Given the description of an element on the screen output the (x, y) to click on. 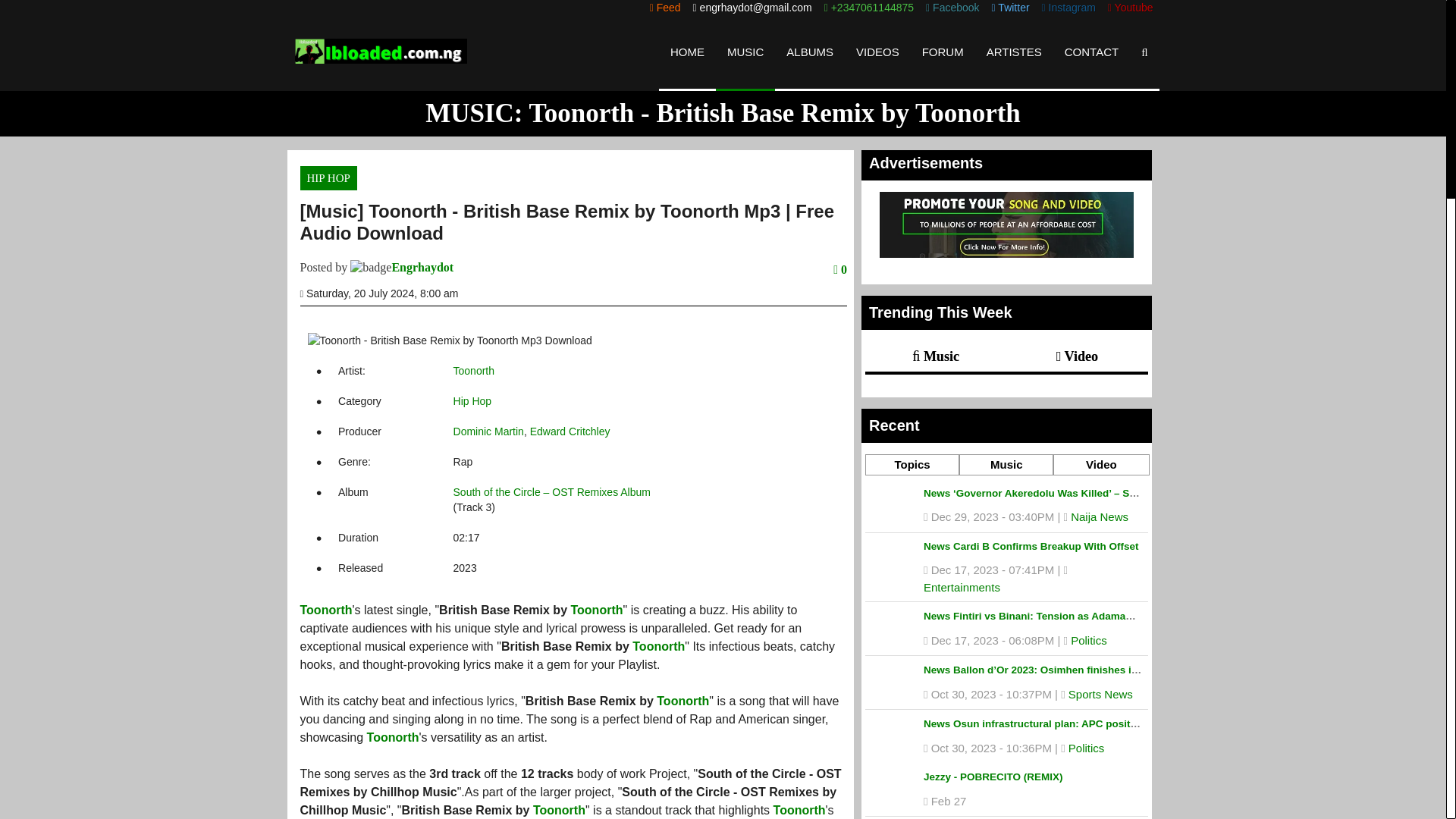
Toonorth (596, 609)
Instagram (1069, 7)
Twitter (1010, 7)
Hip Hop (472, 400)
HIP HOP (327, 178)
Feed (665, 7)
CONTACT (1090, 51)
Toonorth (682, 700)
Toonorth (558, 809)
ARTISTES (1013, 51)
Toonorth (473, 370)
Facebook (952, 7)
Cardi B Confirms Breakup With Offset (1030, 546)
Naija News (1099, 516)
VIDEOS (877, 51)
